Given the description of an element on the screen output the (x, y) to click on. 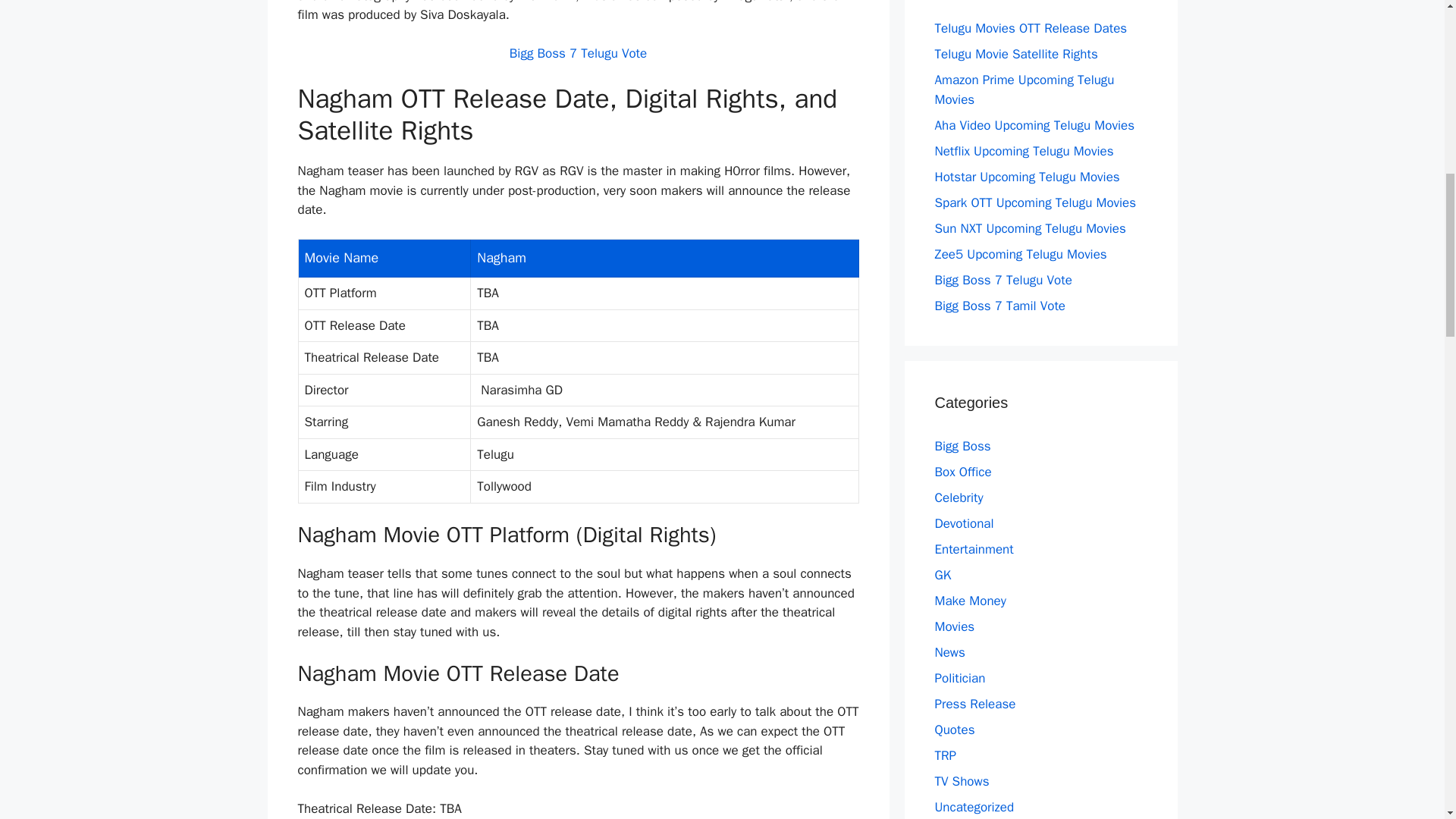
Bigg Boss 7 Telugu Vote (577, 53)
